Given the description of an element on the screen output the (x, y) to click on. 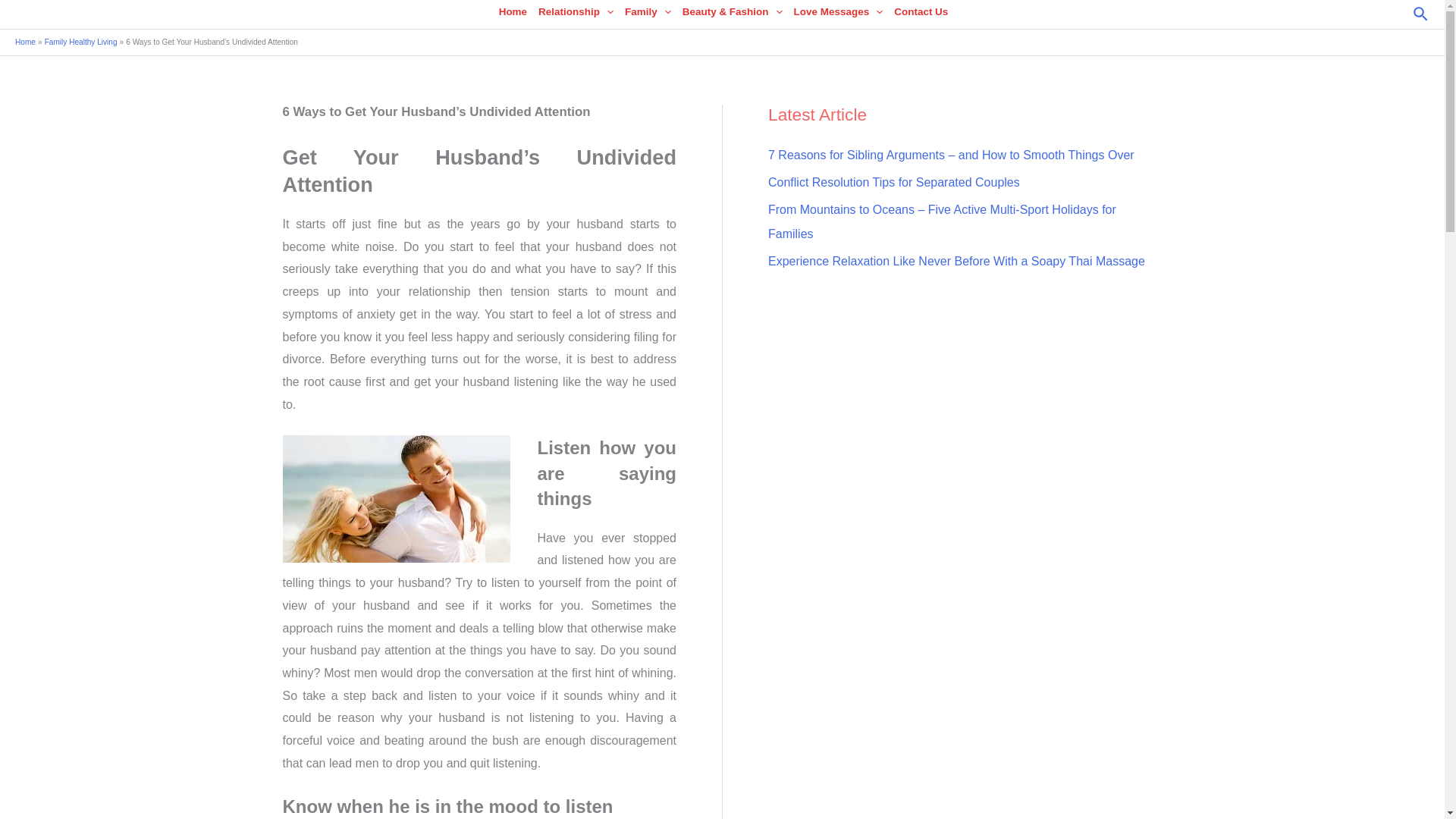
Home (511, 14)
Family (646, 14)
Contact Us (919, 14)
Relationship (574, 14)
Love Messages (837, 14)
